Given the description of an element on the screen output the (x, y) to click on. 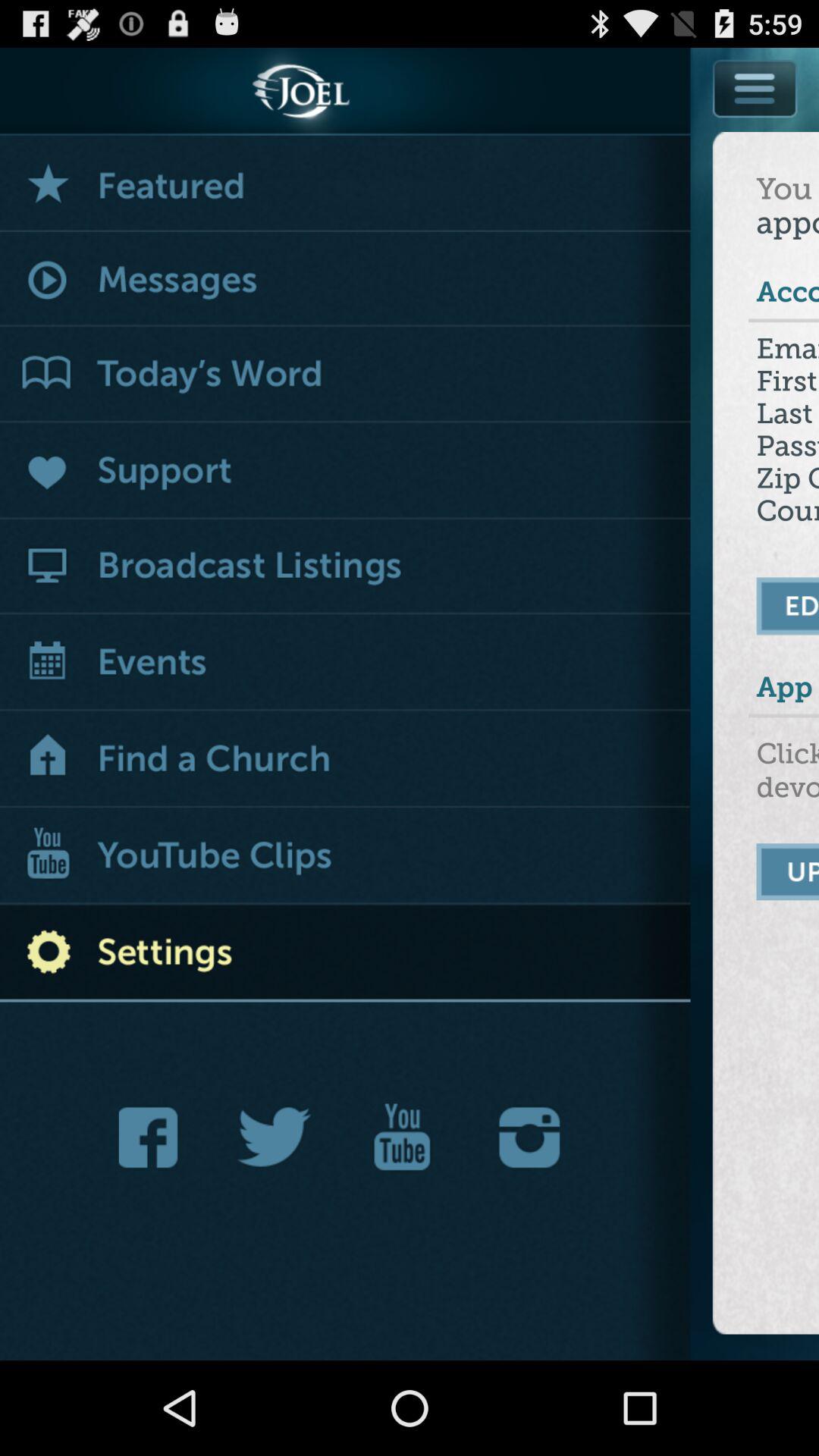
messages menu (345, 280)
